Given the description of an element on the screen output the (x, y) to click on. 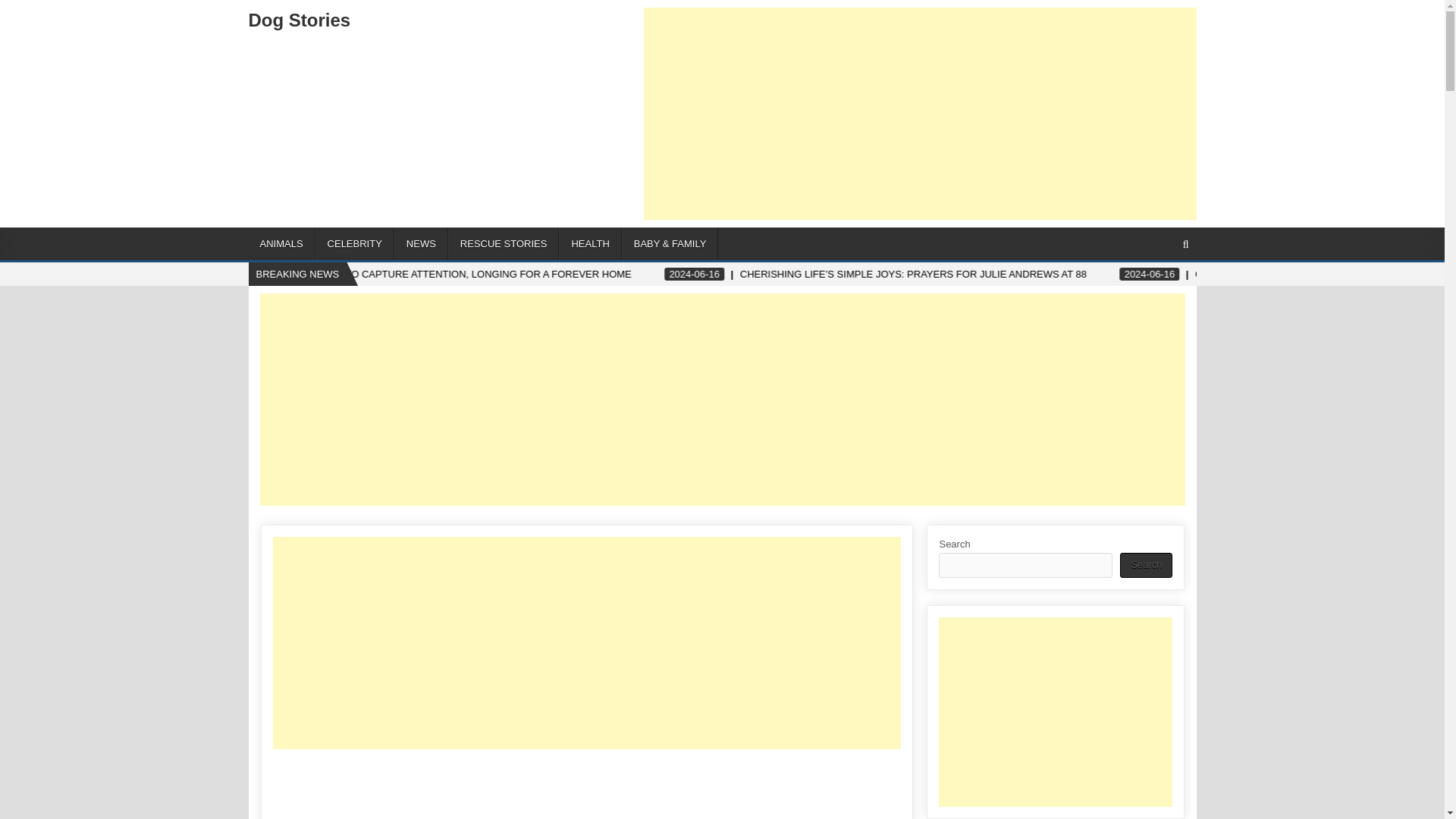
CELEBRITY (354, 243)
HEALTH (590, 243)
NEWS (421, 243)
ANIMALS (281, 243)
RESCUE STORIES (503, 243)
Dog Stories (299, 19)
